Given the description of an element on the screen output the (x, y) to click on. 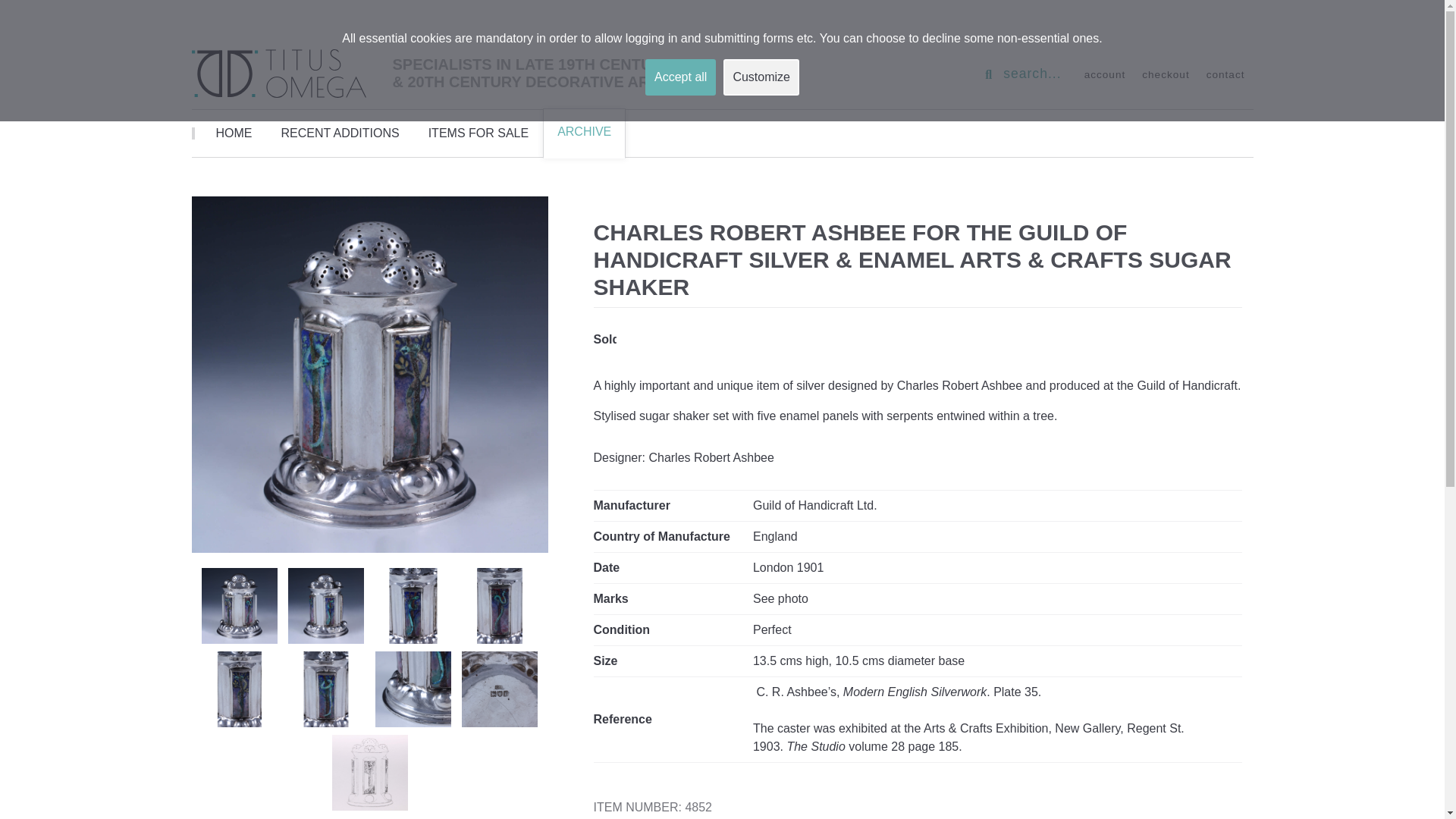
RECENT ADDITIONS (339, 133)
contact (1225, 74)
checkout (1165, 74)
HOME (234, 133)
